Given the description of an element on the screen output the (x, y) to click on. 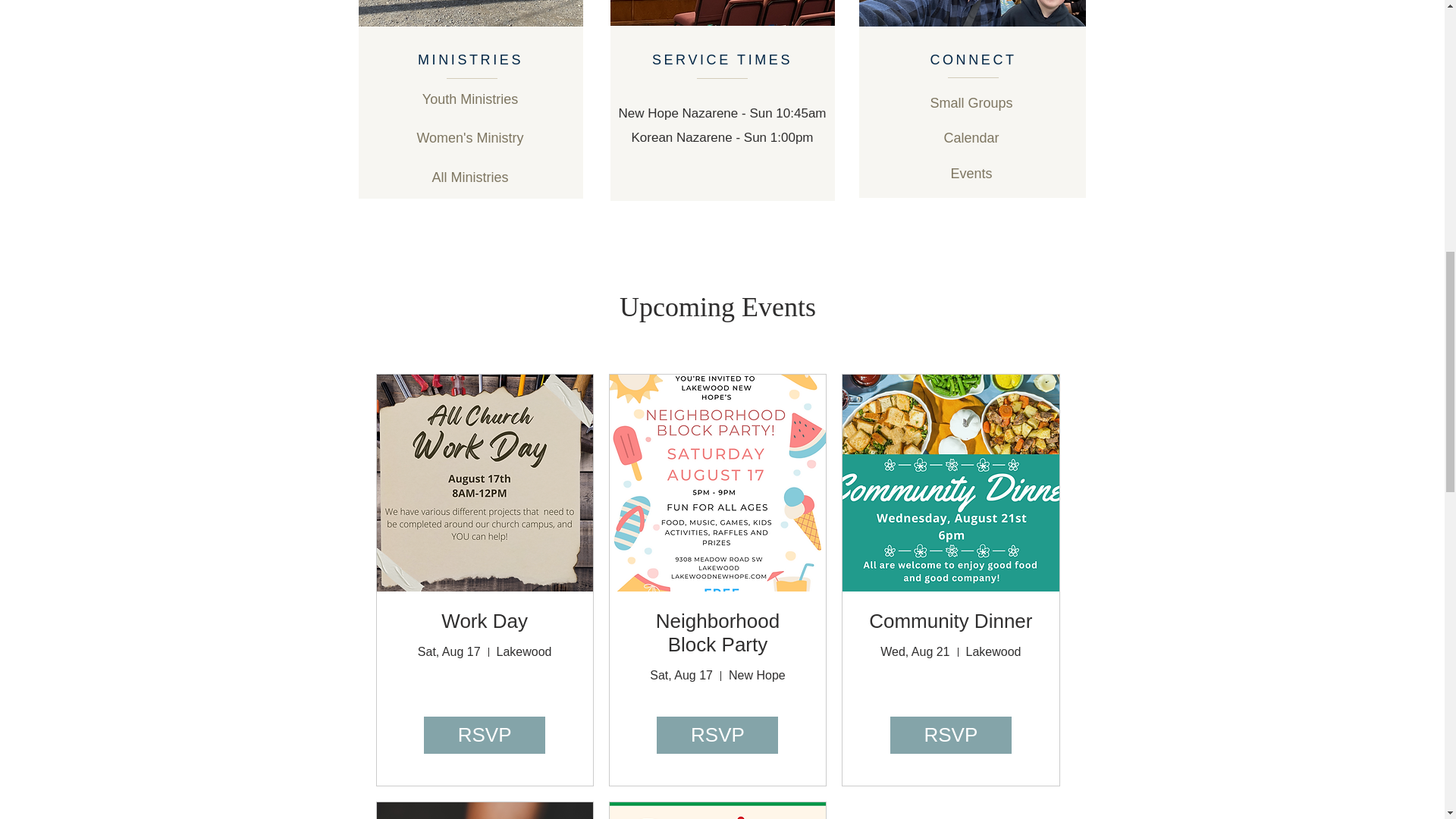
Calendar (970, 138)
Youth Ministries (470, 99)
All Ministries (469, 177)
Work Day (484, 620)
RSVP (716, 734)
Community Dinner (950, 620)
Events (970, 173)
Women's Ministry (470, 138)
Neighborhood Block Party (717, 632)
Small Groups (970, 103)
